Given the description of an element on the screen output the (x, y) to click on. 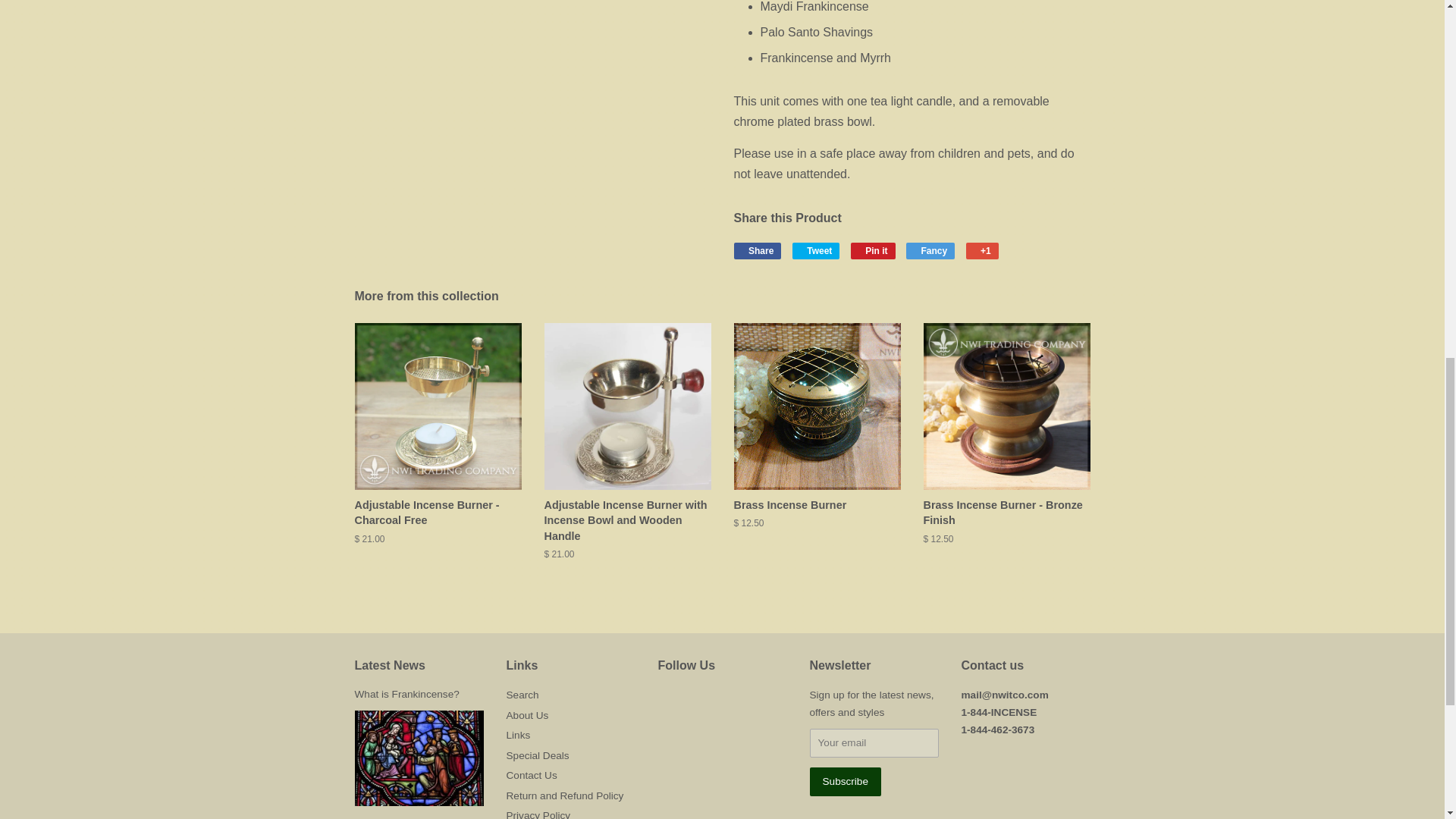
Pin on Pinterest (872, 250)
Subscribe (844, 781)
Add to Fancy (930, 250)
Share on Facebook (757, 250)
Tweet on Twitter (816, 250)
